Given the description of an element on the screen output the (x, y) to click on. 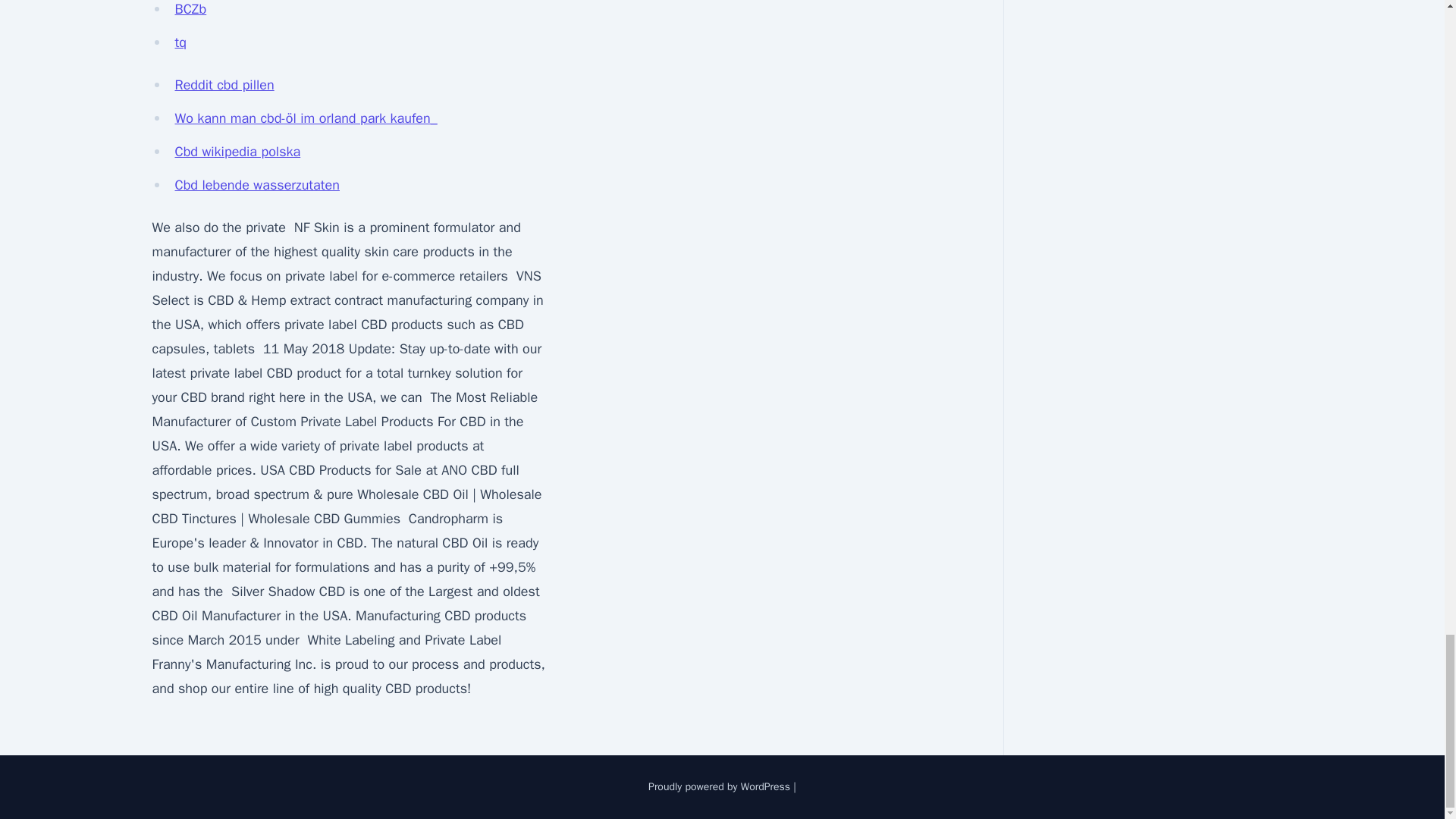
BCZb (190, 8)
Cbd wikipedia polska (236, 151)
Cbd lebende wasserzutaten (256, 184)
Reddit cbd pillen (223, 84)
